Given the description of an element on the screen output the (x, y) to click on. 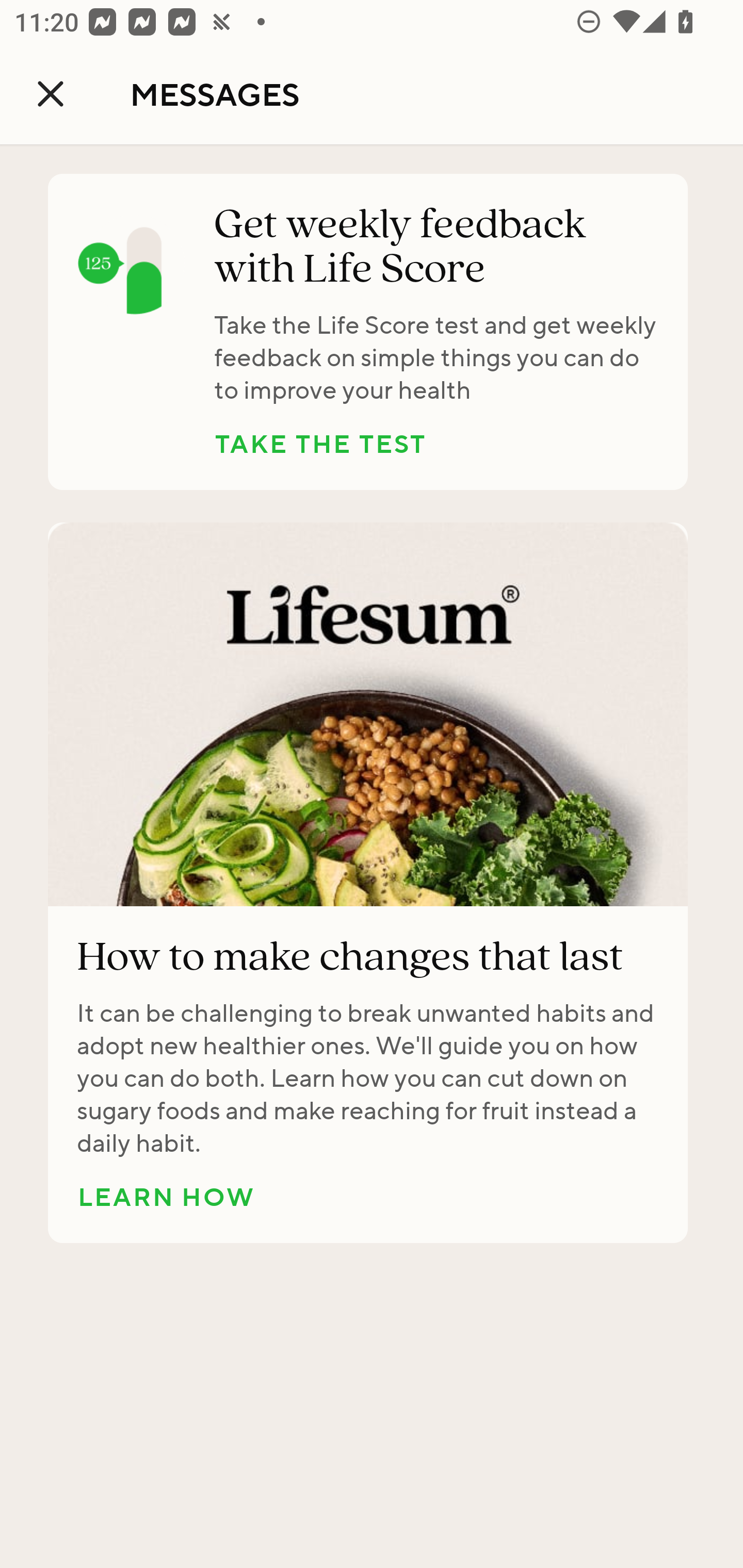
Navigate up (50, 93)
